Given the description of an element on the screen output the (x, y) to click on. 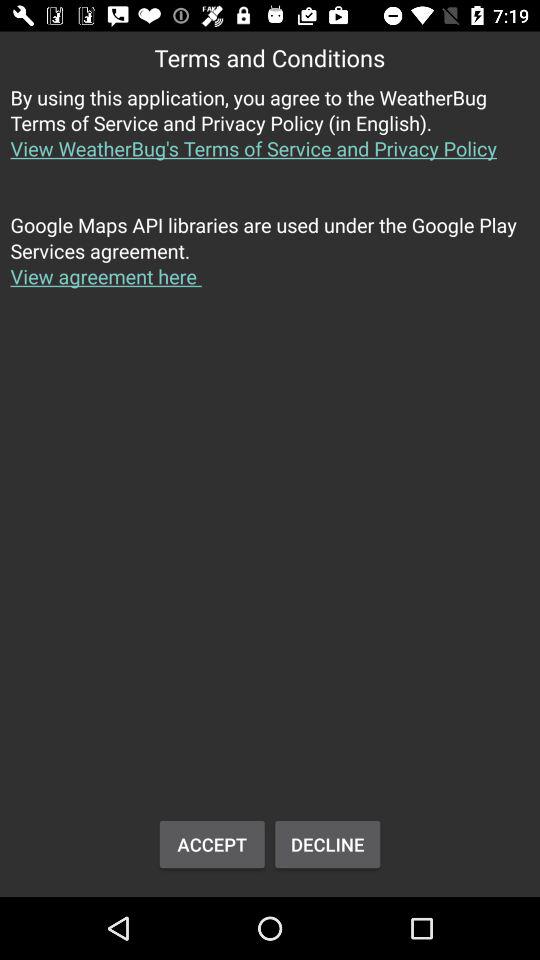
launch button above accept icon (269, 262)
